Given the description of an element on the screen output the (x, y) to click on. 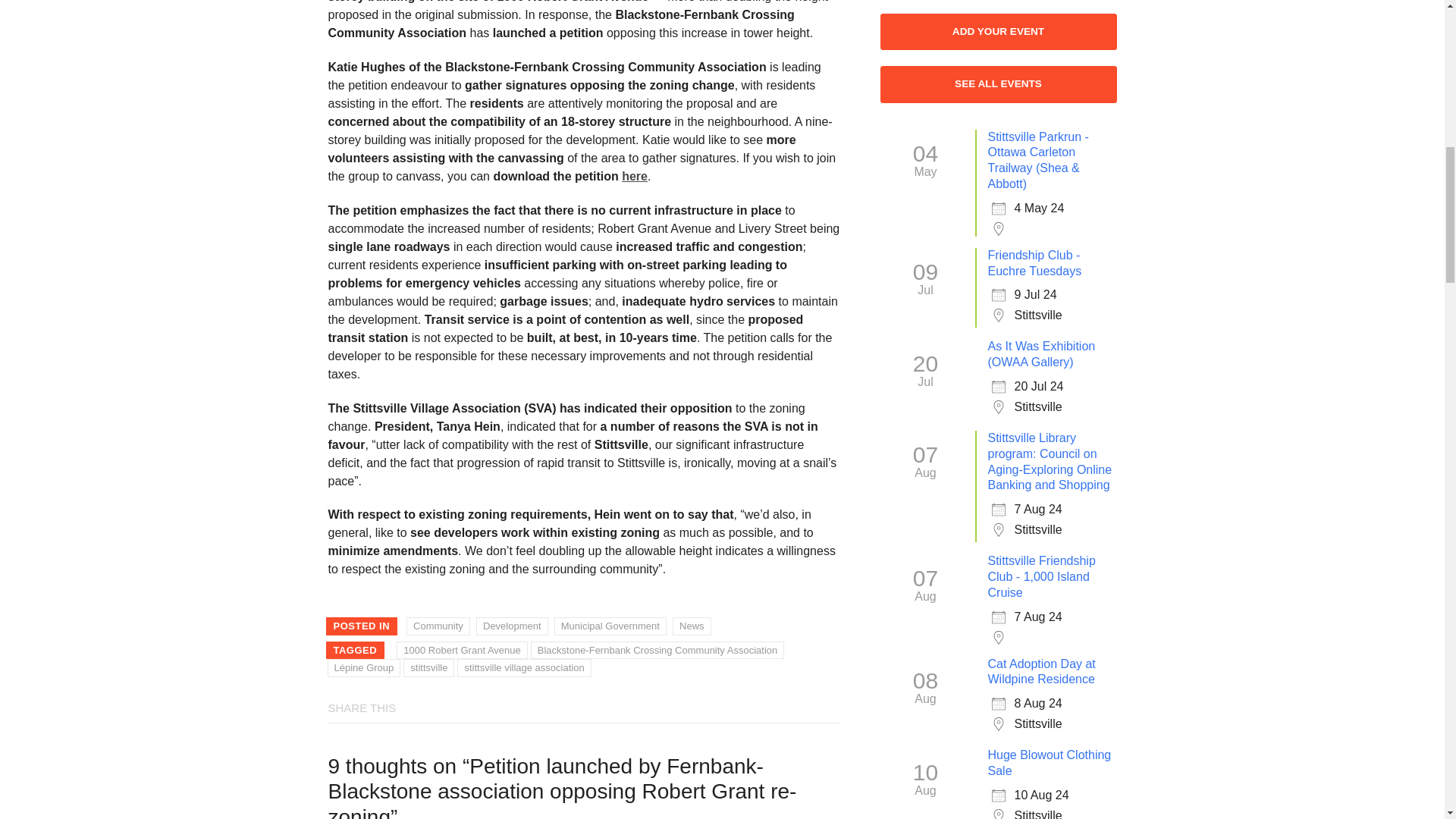
Development (512, 626)
Community (438, 626)
stittsville village association (524, 668)
stittsville (428, 668)
here (634, 175)
Municipal Government (610, 626)
1000 Robert Grant Avenue (461, 650)
Blackstone-Fernbank Crossing Community Association (657, 650)
News (691, 626)
